Given the description of an element on the screen output the (x, y) to click on. 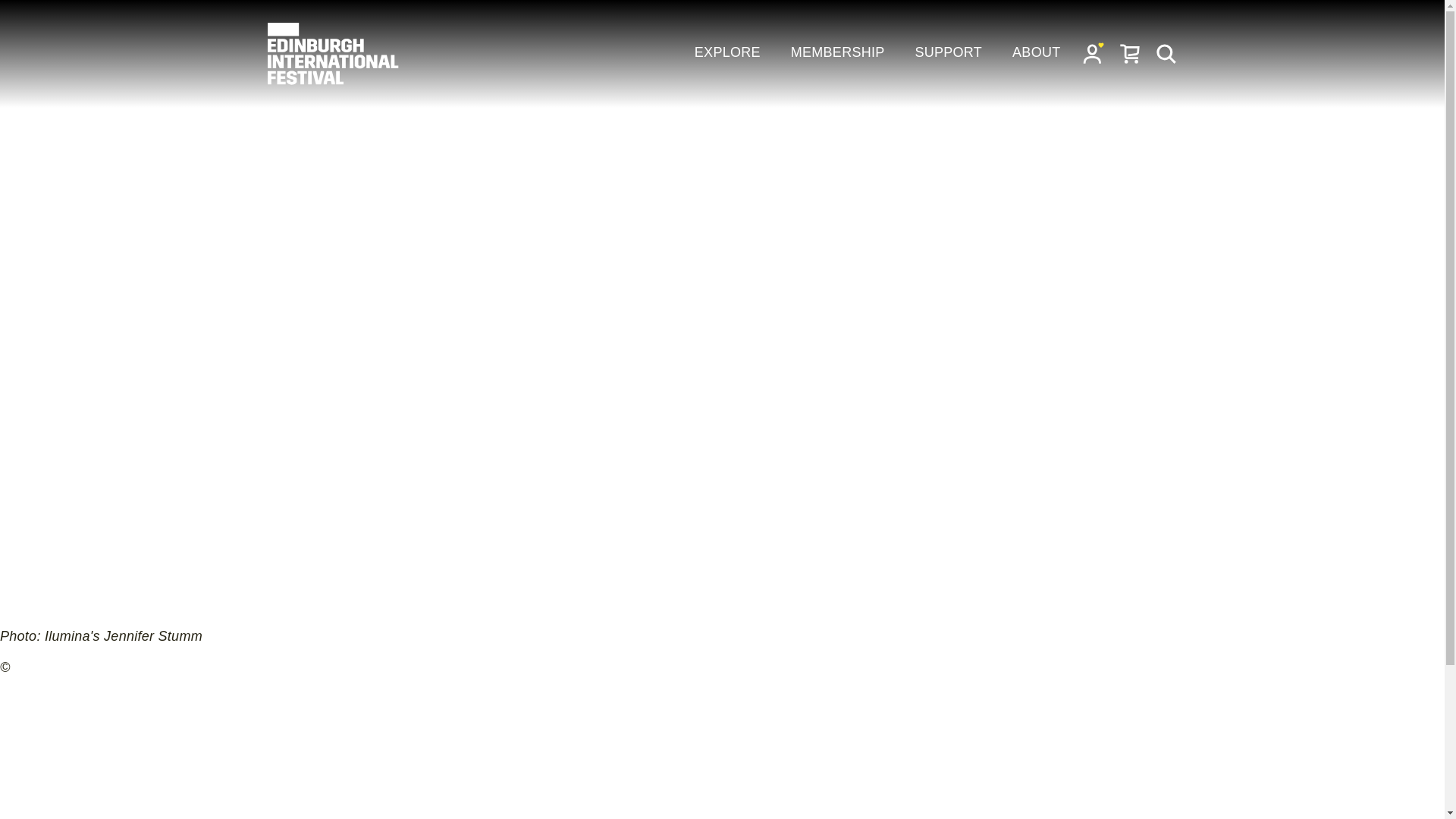
SUPPORT (947, 52)
Search (1166, 52)
EDINBURGH INTERNATIONAL FESTIVAL (332, 53)
EXPLORE (727, 52)
Basket (1129, 52)
MEMBERSHIP (837, 52)
Account (1093, 52)
ABOUT (1035, 52)
